Given the description of an element on the screen output the (x, y) to click on. 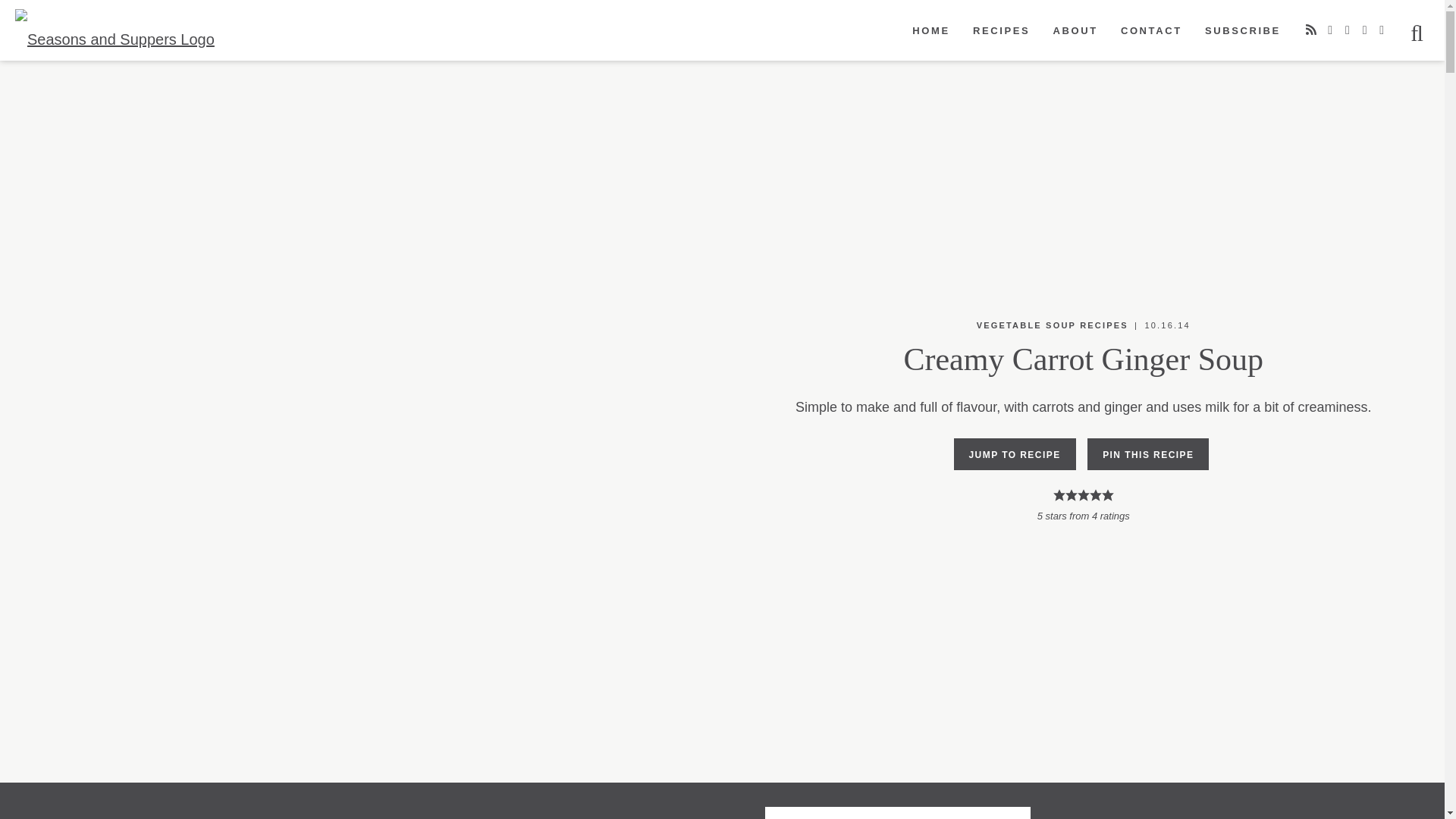
HOME (930, 30)
Seasons and Suppers (147, 41)
SUBSCRIBE (1242, 30)
ABOUT (1074, 30)
CONTACT (1151, 30)
RECIPES (1000, 30)
